Given the description of an element on the screen output the (x, y) to click on. 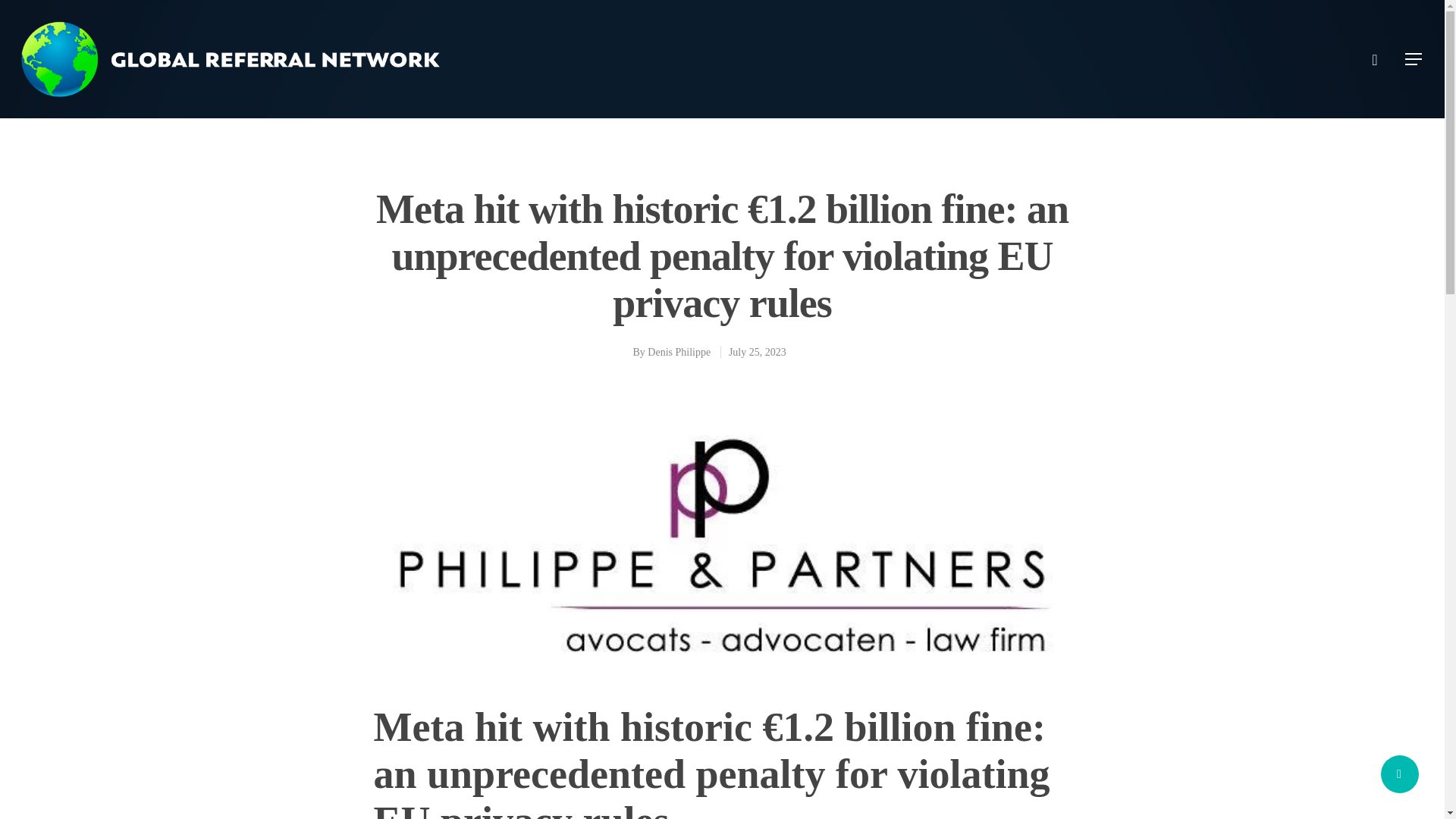
Denis Philippe (678, 351)
Posts by Denis Philippe (678, 351)
